Given the description of an element on the screen output the (x, y) to click on. 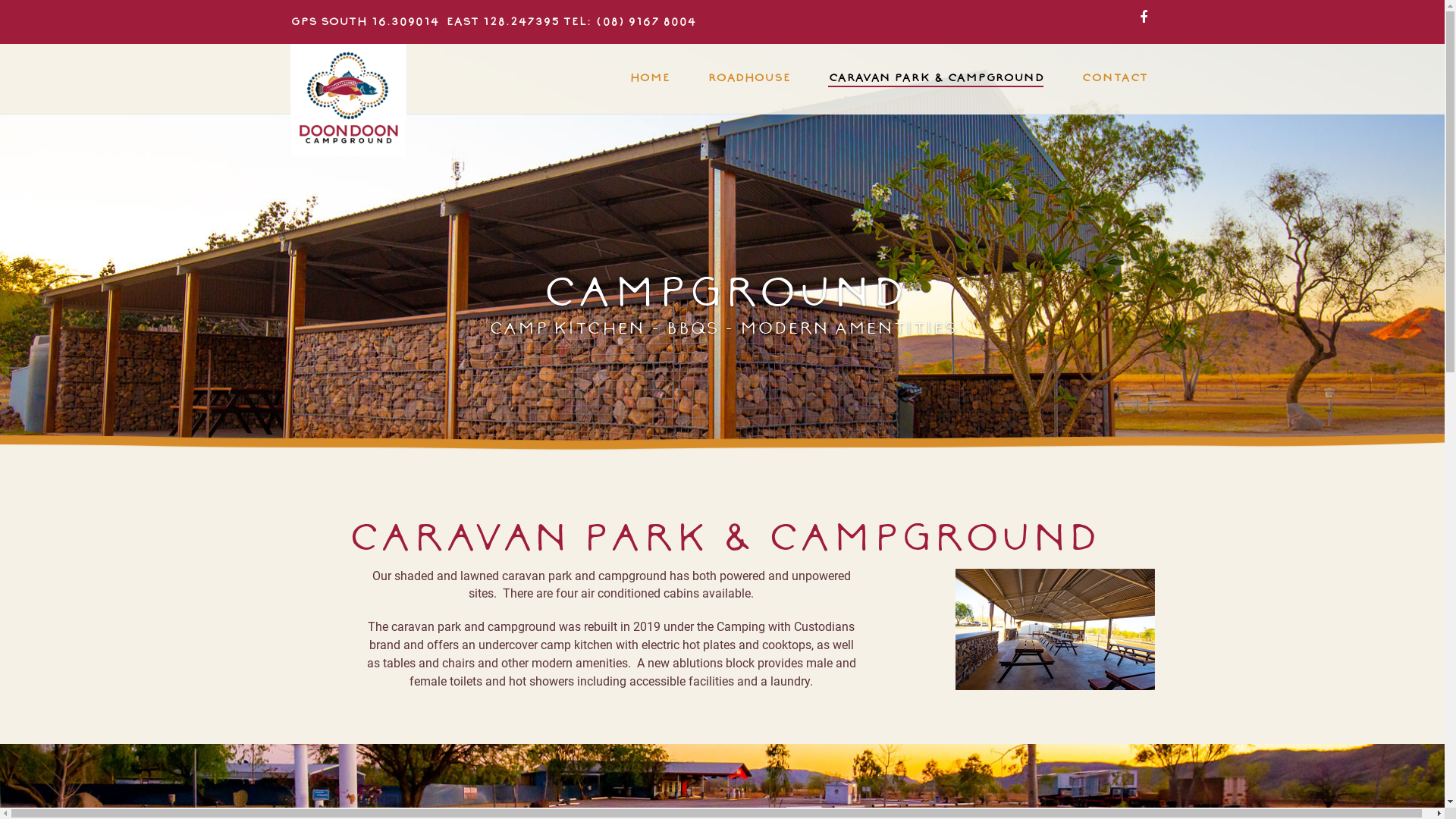
ROADHOUSE Element type: text (748, 78)
CONTACT Element type: text (1113, 78)
HOME Element type: text (648, 78)
CARAVAN PARK & CAMPGROUND Element type: text (934, 78)
Facebook Element type: hover (1142, 17)
